Given the description of an element on the screen output the (x, y) to click on. 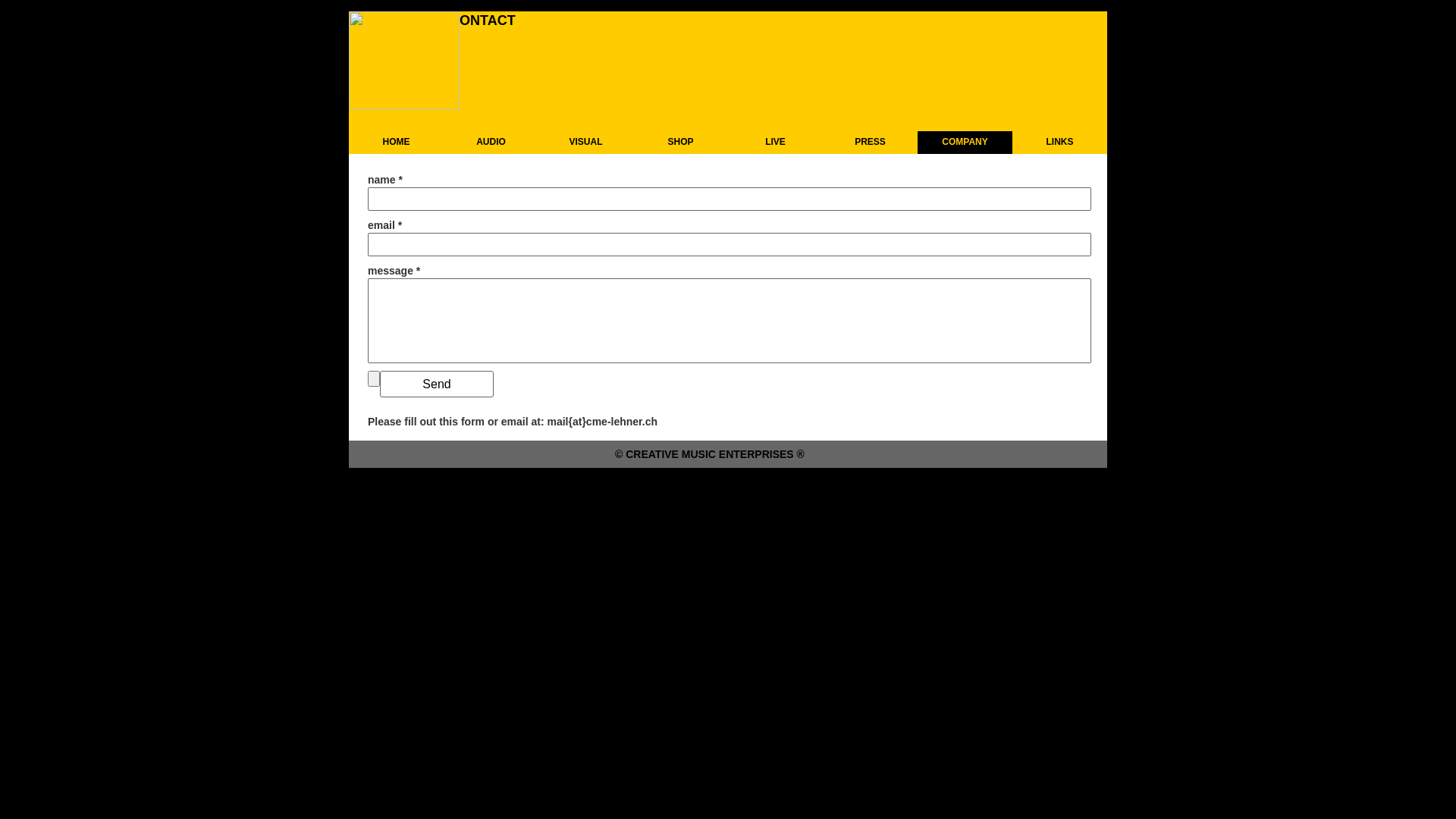
PRESS Element type: text (869, 142)
AUDIO Element type: text (490, 142)
SHOP Element type: text (680, 142)
VISUAL Element type: text (585, 142)
LINKS Element type: text (1059, 142)
LIVE Element type: text (775, 142)
COMPANY Element type: text (964, 142)
HOME Element type: text (395, 142)
